Given the description of an element on the screen output the (x, y) to click on. 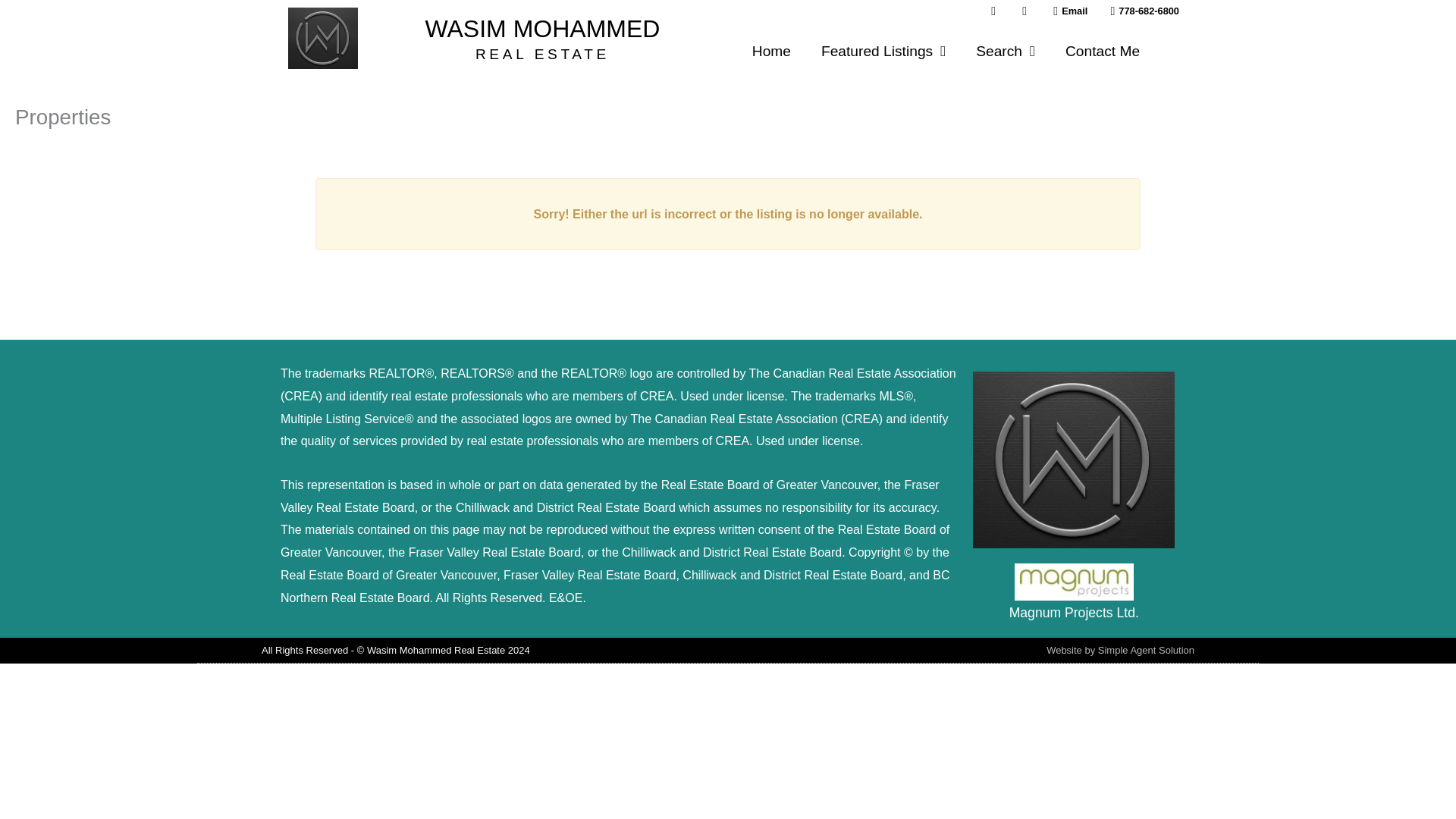
Search (1004, 51)
778-682-6800 (1139, 11)
Featured Listings (883, 51)
Contact Me (1101, 51)
Email (1064, 11)
Home (771, 51)
